Given the description of an element on the screen output the (x, y) to click on. 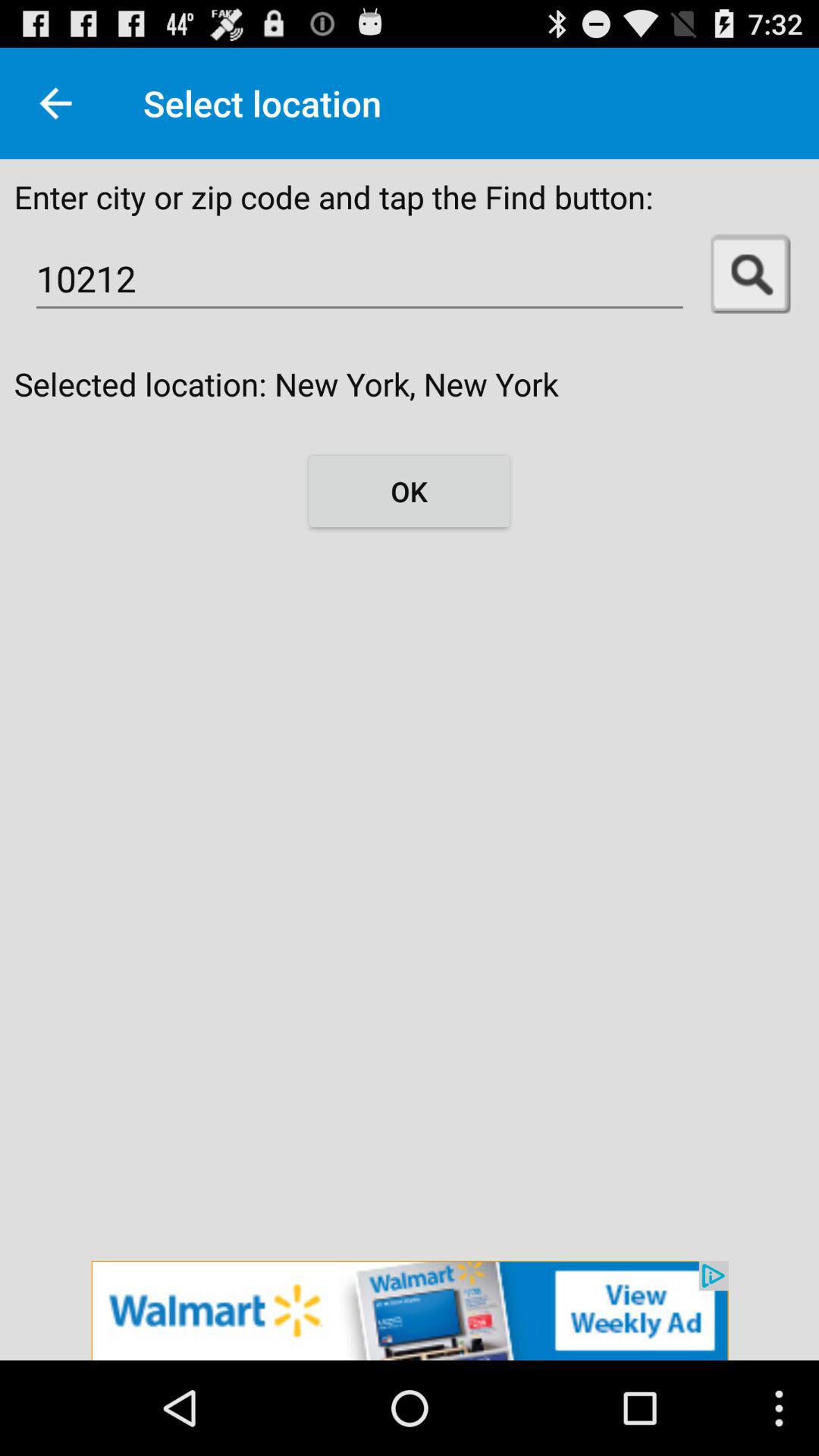
search for location (750, 273)
